Given the description of an element on the screen output the (x, y) to click on. 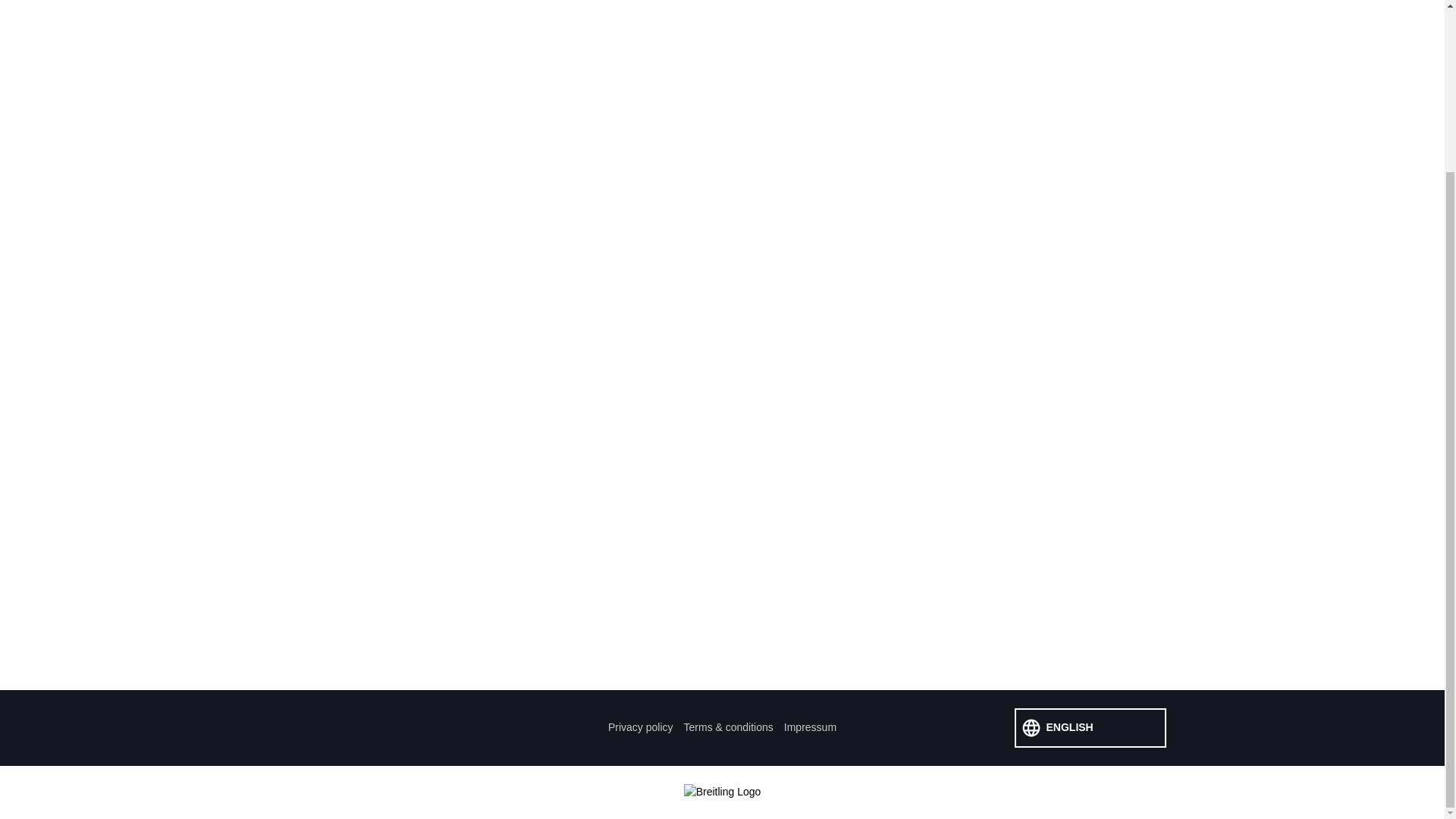
ENGLISH (1090, 727)
Impressum (809, 727)
Privacy policy (640, 727)
